Given the description of an element on the screen output the (x, y) to click on. 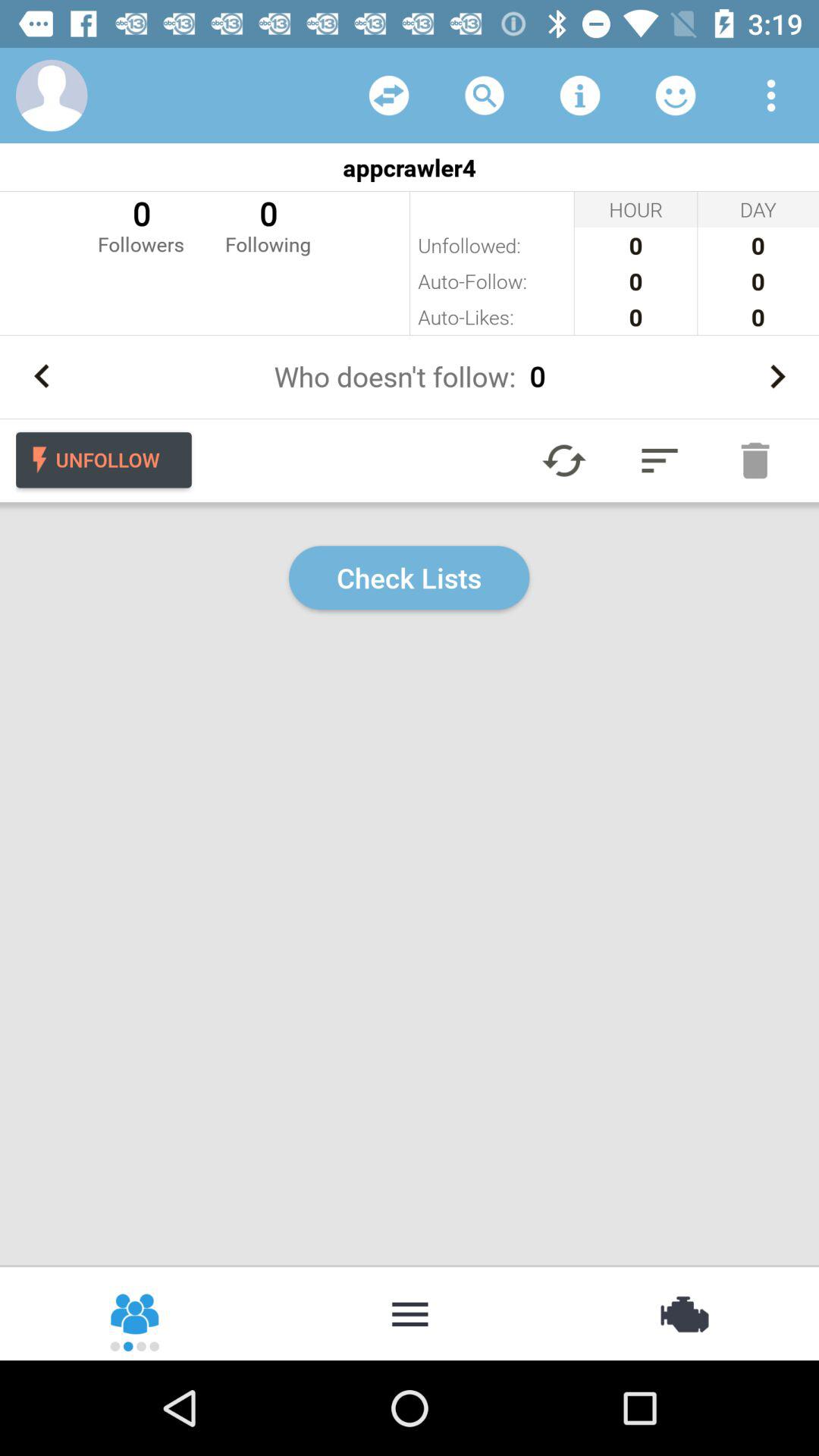
share (388, 95)
